Given the description of an element on the screen output the (x, y) to click on. 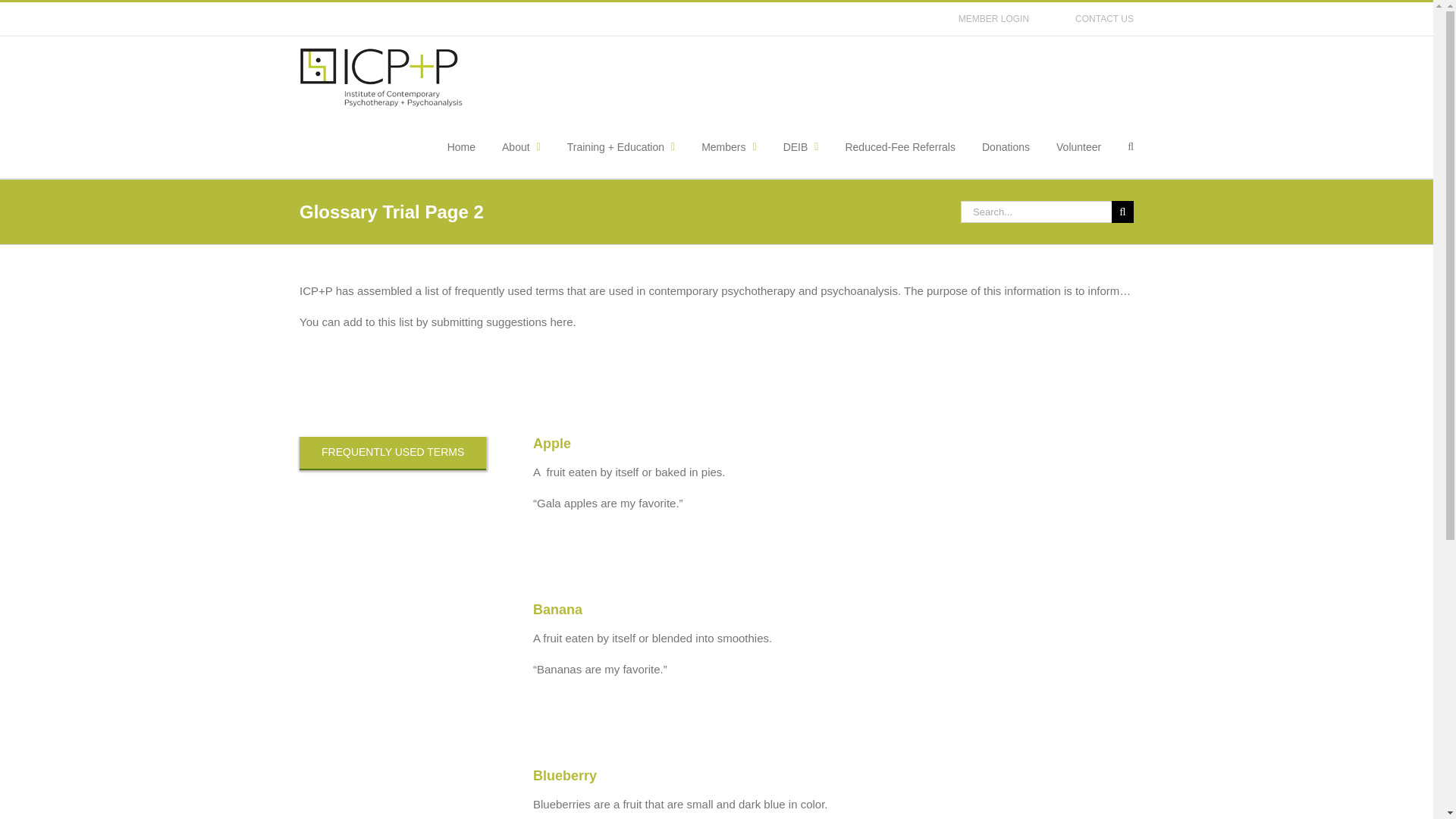
Reduced-Fee Referrals (899, 146)
MEMBER LOGIN (993, 19)
CONTACT US (1104, 19)
